Given the description of an element on the screen output the (x, y) to click on. 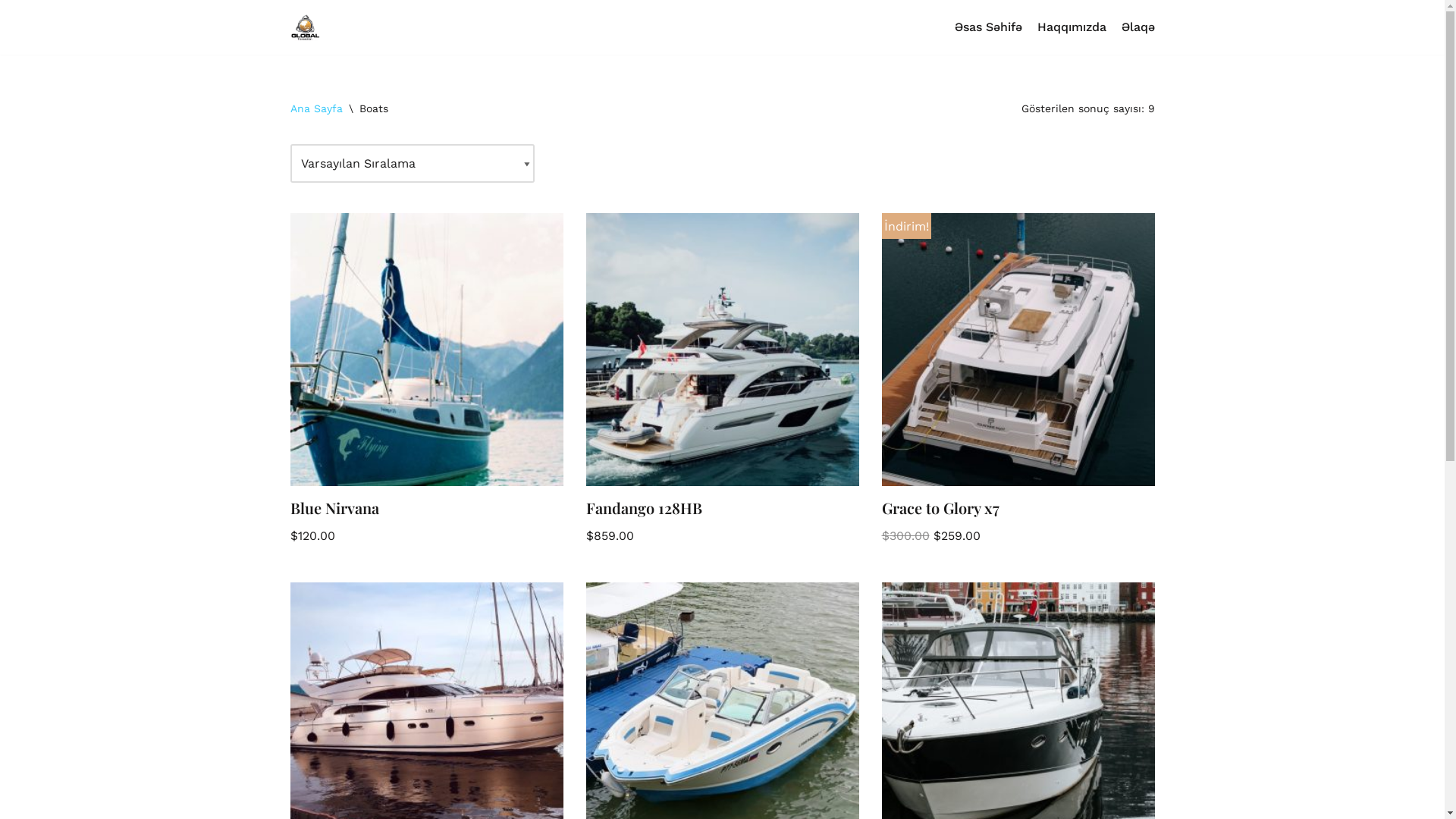
Grace to Glory x7 Element type: text (1017, 511)
Ana Sayfa Element type: text (315, 108)
Fandango 128HB Element type: text (721, 511)
Blue Nirvana Element type: text (425, 511)
GlobalTransaction.az Element type: hover (304, 26)
